Given the description of an element on the screen output the (x, y) to click on. 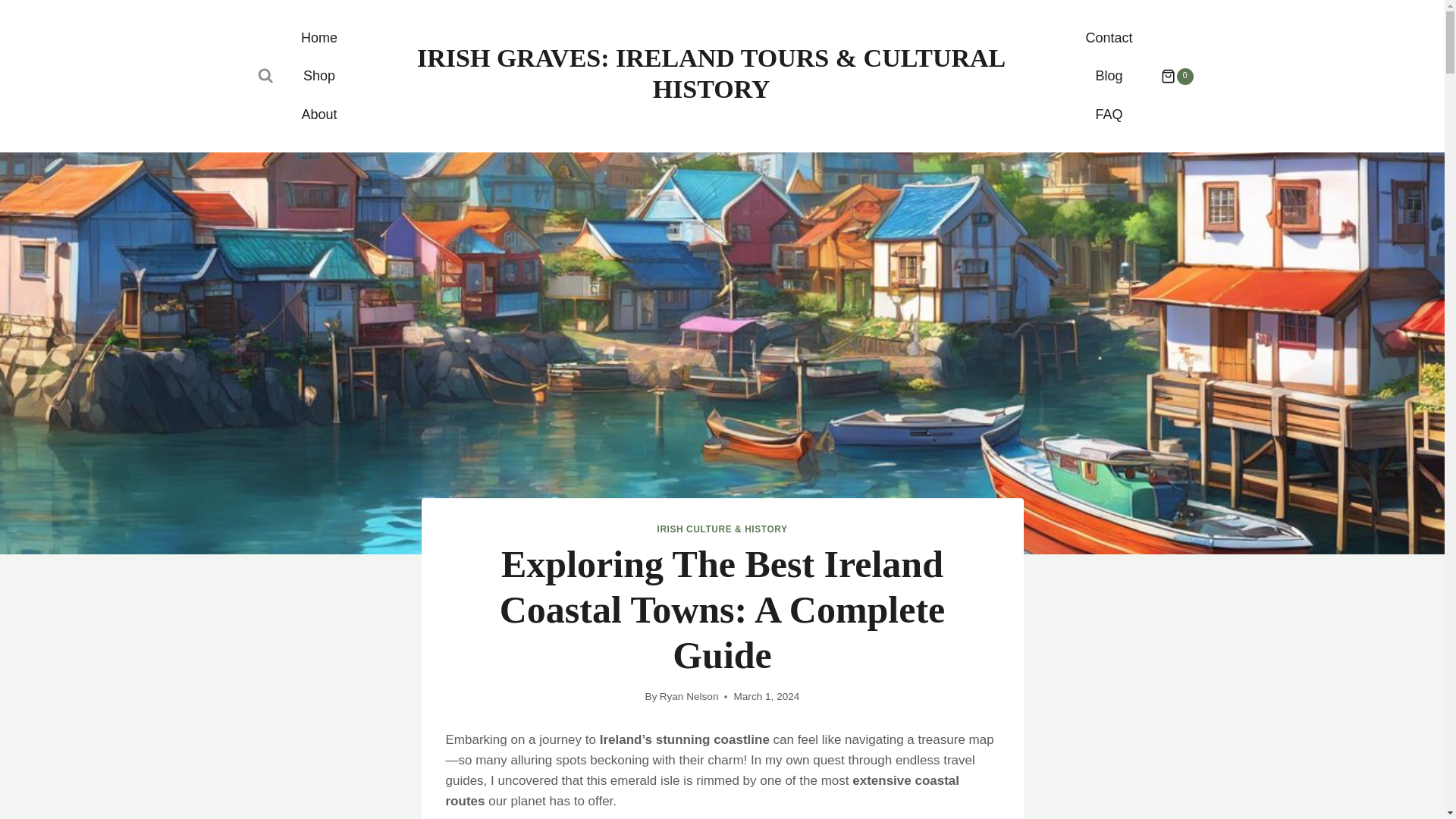
Shop (319, 75)
Blog (1108, 75)
About (318, 114)
Home (318, 37)
Contact (1108, 37)
0 (1168, 76)
Ryan Nelson (689, 696)
FAQ (1108, 114)
